Given the description of an element on the screen output the (x, y) to click on. 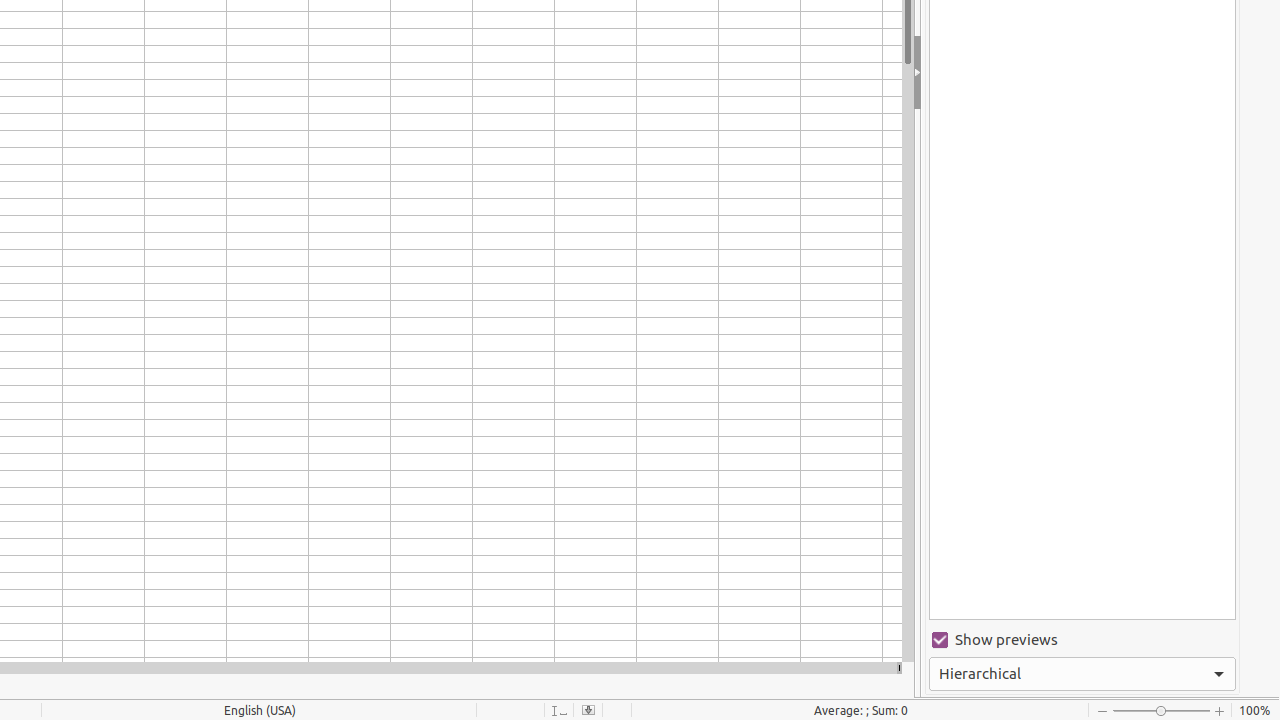
Show previews Element type: check-box (1082, 640)
